Given the description of an element on the screen output the (x, y) to click on. 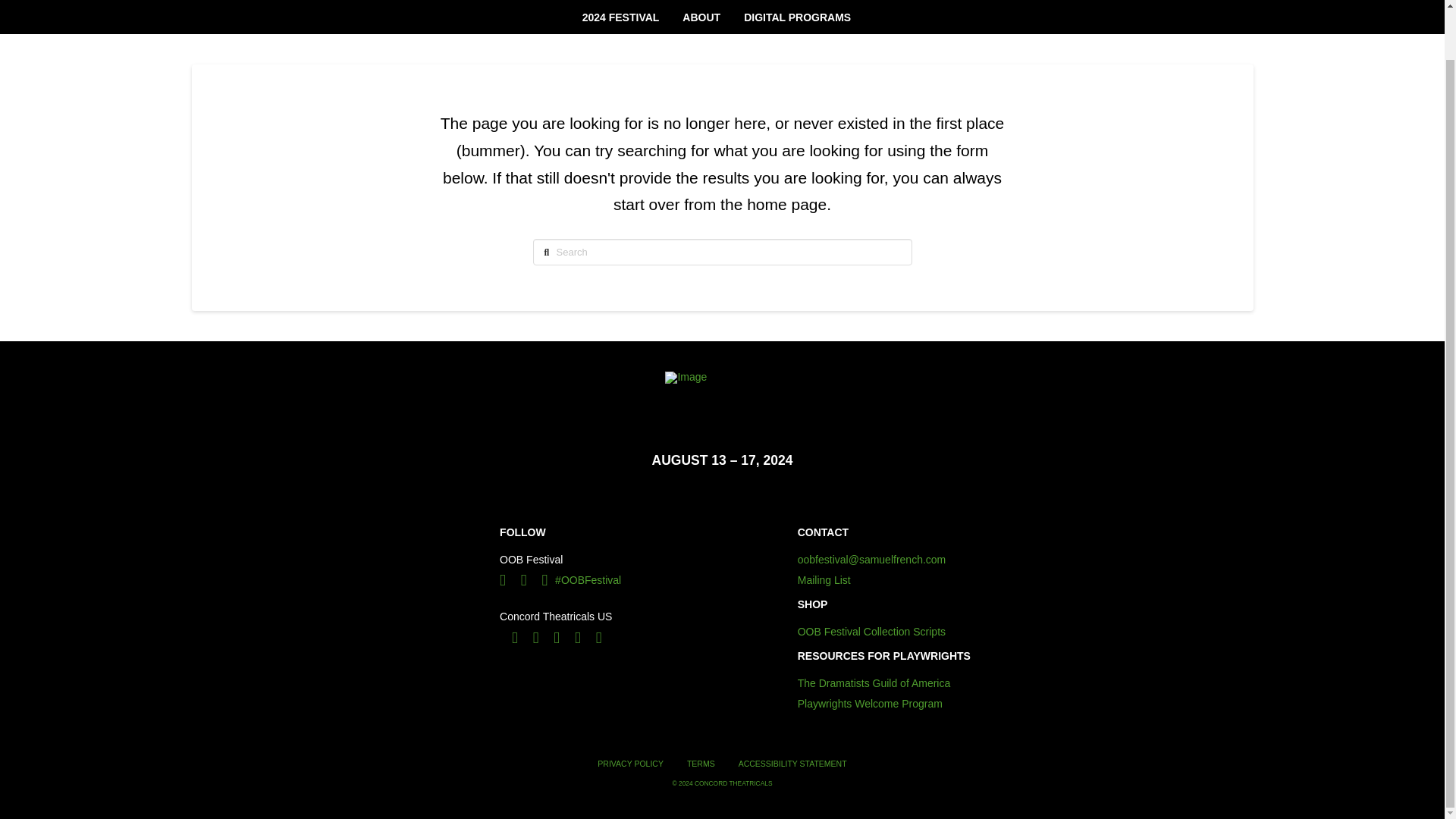
ABOUT (701, 17)
DIGITAL PROGRAMS (803, 17)
2024 FESTIVAL (620, 17)
